Given the description of an element on the screen output the (x, y) to click on. 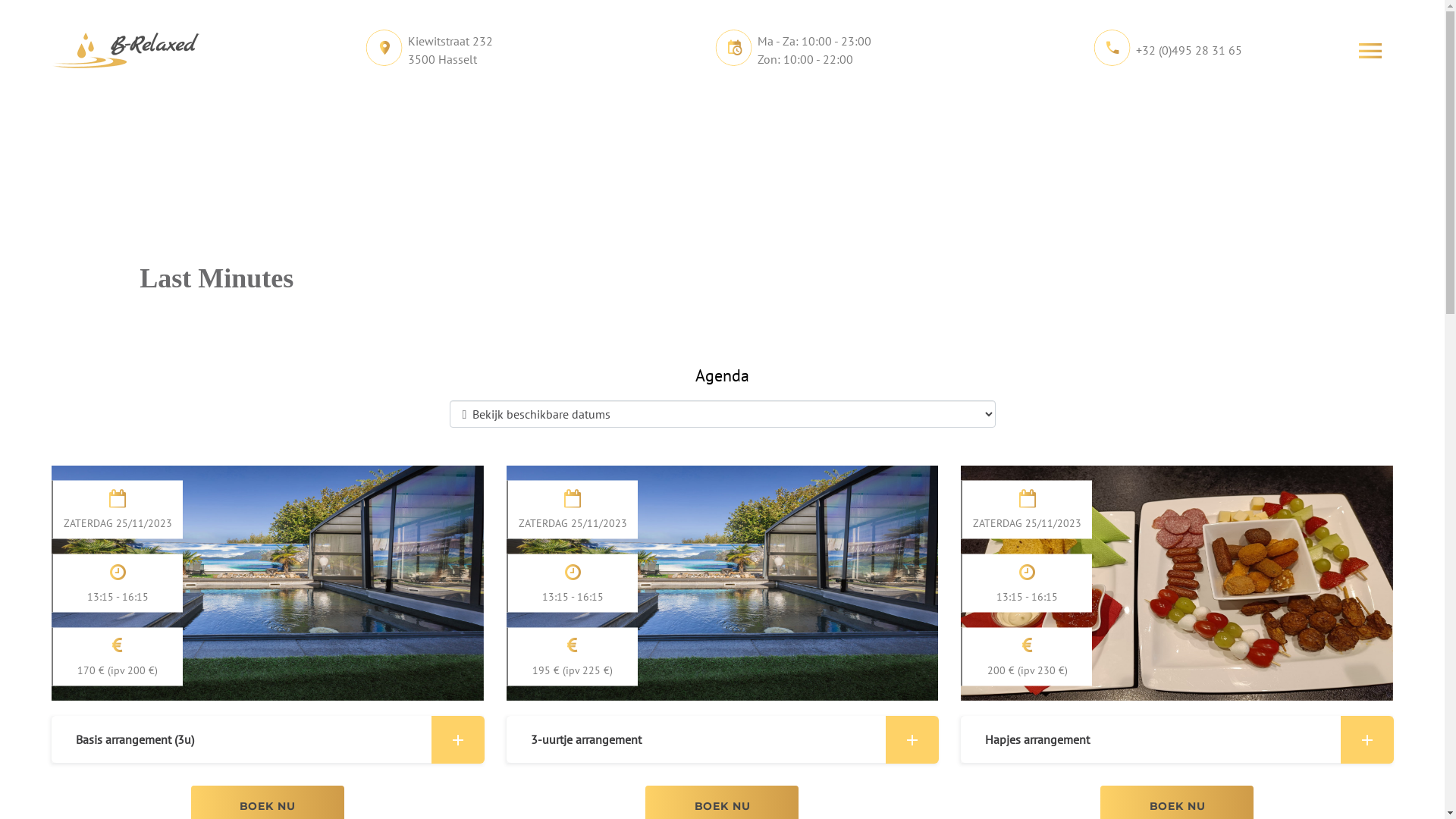
LAST MINUTES Element type: text (674, 53)
Basis arrangement (3u) Element type: text (267, 738)
VRIJE UREN Element type: text (814, 53)
+32 (0)495 28 31 65 Element type: text (1188, 49)
CONTACT Element type: text (1255, 53)
CADEAUBONNEN Element type: text (960, 53)
ARRANGEMENTEN Element type: text (516, 53)
3-uurtje arrangement Element type: text (722, 738)
HOME Element type: text (384, 53)
SFEERBEELDEN Element type: text (1120, 53)
Hapjes arrangement Element type: text (1176, 738)
